Given the description of an element on the screen output the (x, y) to click on. 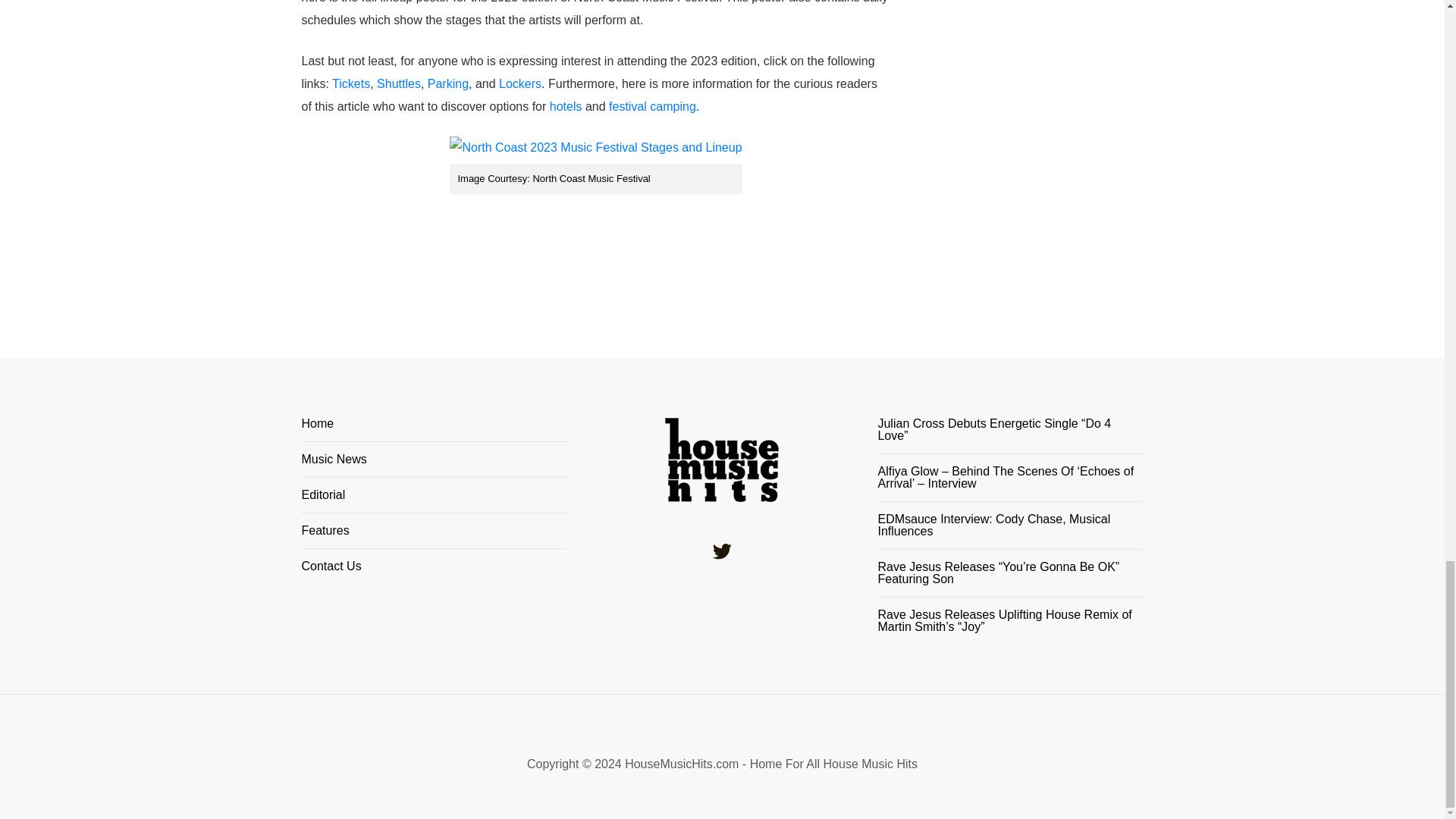
Lockers (520, 83)
hotels (566, 106)
Music News (434, 465)
Parking (448, 83)
Shuttles (398, 83)
Advertisement (1035, 128)
festival camping (651, 106)
Tickets (350, 83)
Contact Us (434, 566)
Home (434, 429)
Editorial (434, 500)
Features (434, 536)
Twitter (721, 550)
